Given the description of an element on the screen output the (x, y) to click on. 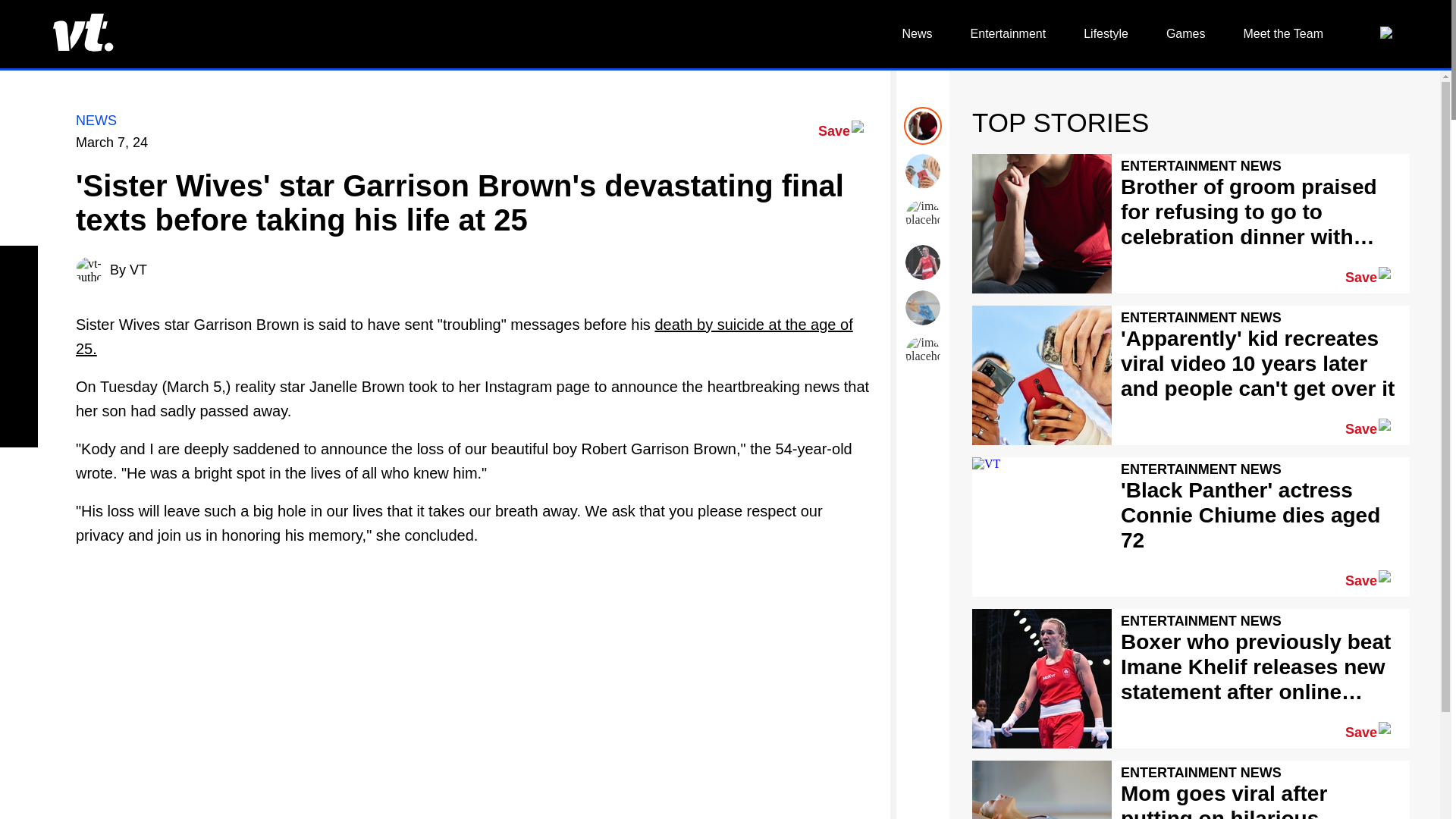
News (917, 33)
Games (1185, 33)
Meet the Team (1283, 33)
Entertainment (1008, 33)
Lifestyle (1105, 33)
NEWS (95, 120)
death by suicide at the age of 25. (464, 336)
